Given the description of an element on the screen output the (x, y) to click on. 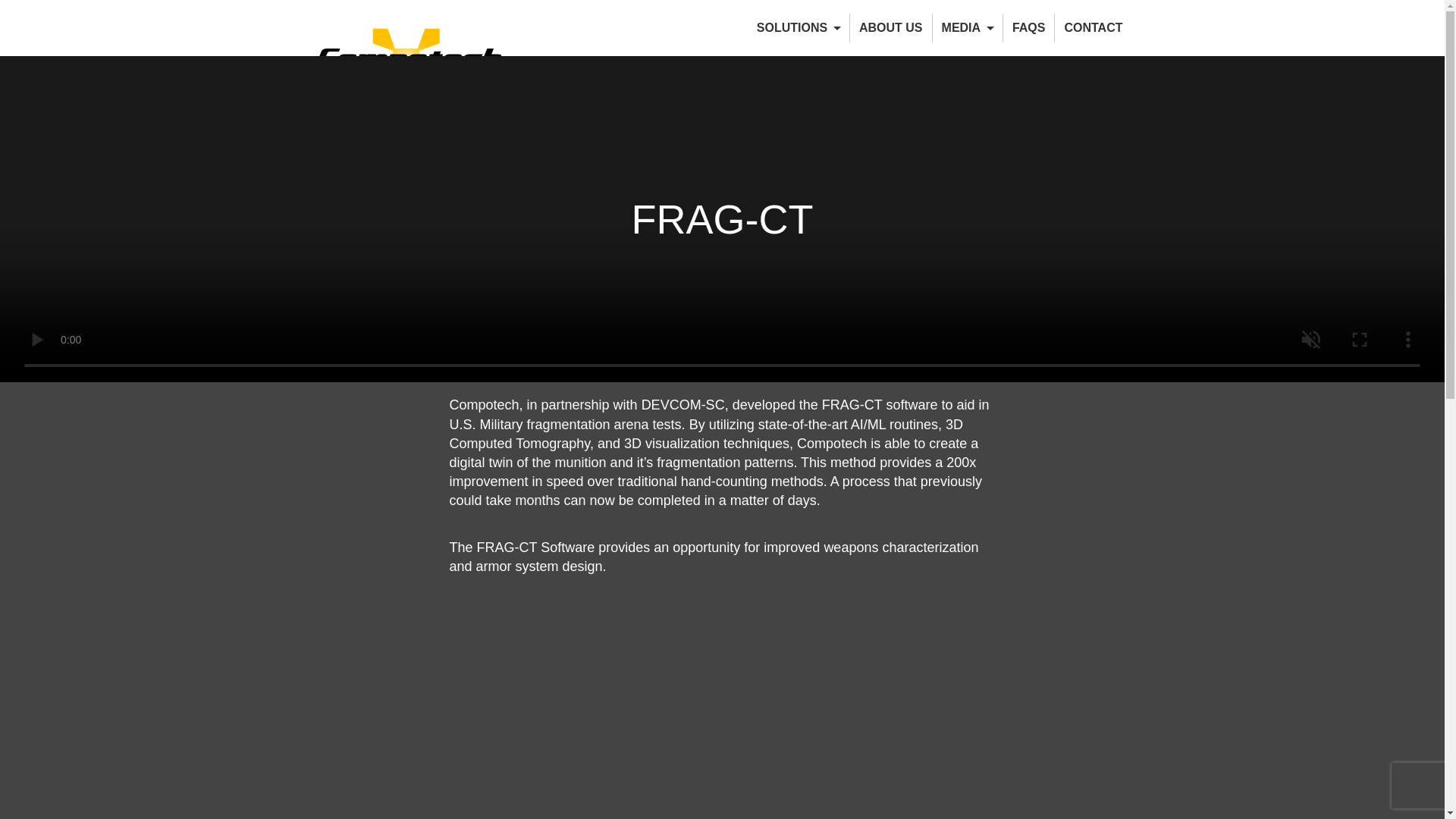
SOLUTIONS (798, 27)
FRAG-CT (721, 721)
MEDIA (968, 27)
ABOUT US (890, 27)
FAQS (1028, 27)
CONTACT (1092, 27)
